Given the description of an element on the screen output the (x, y) to click on. 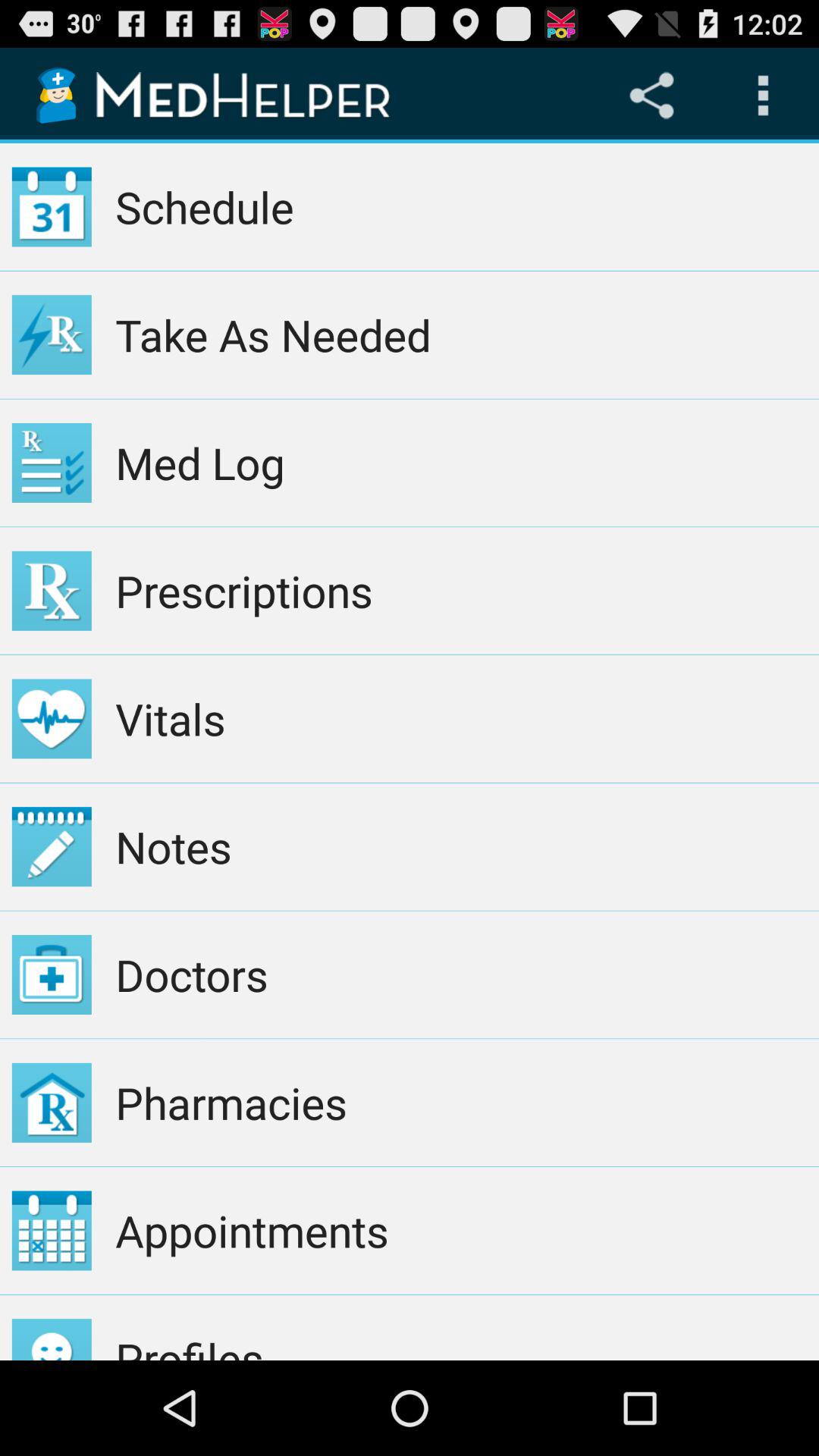
launch the app below pharmacies item (461, 1230)
